Given the description of an element on the screen output the (x, y) to click on. 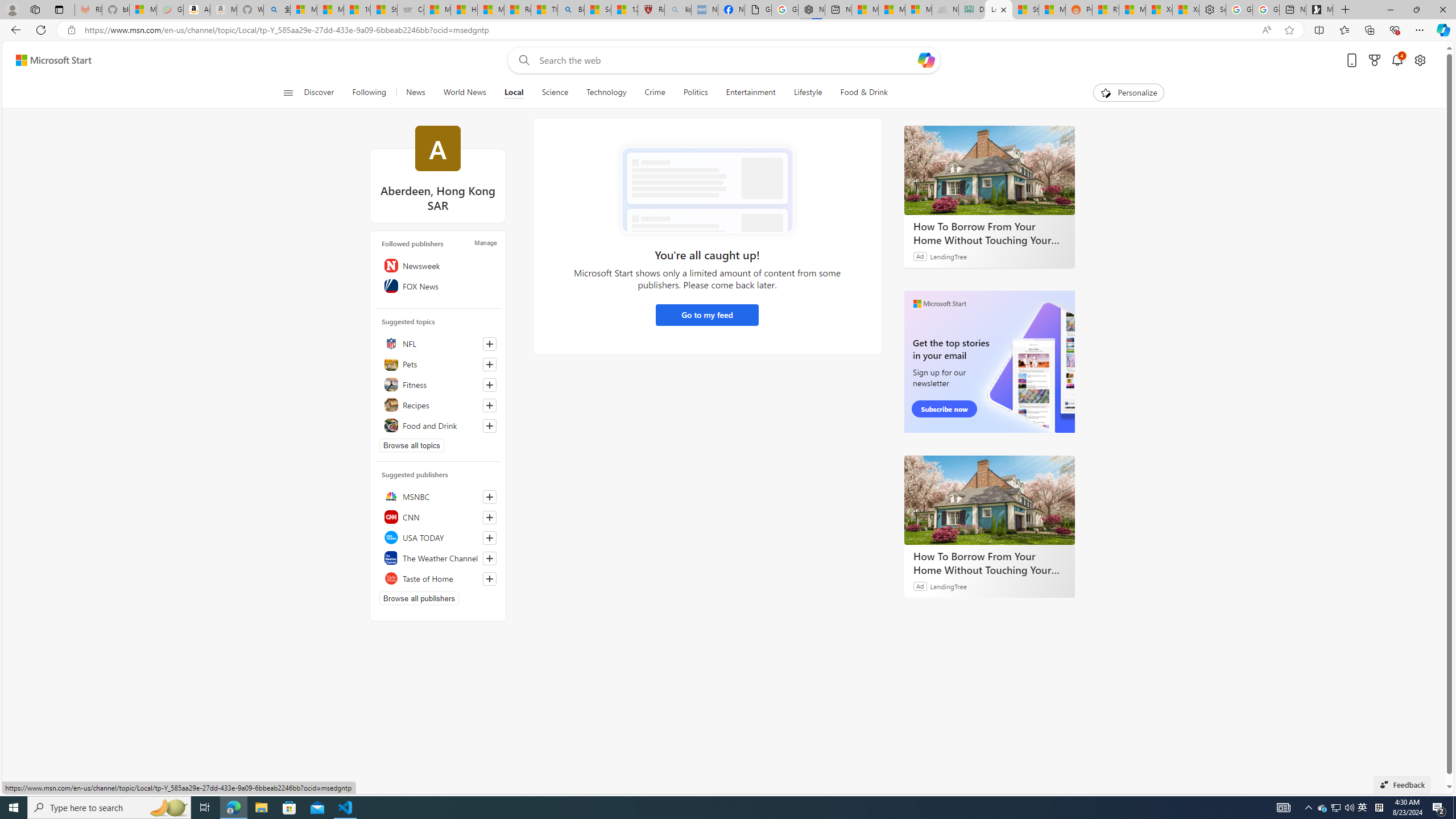
Google Analytics Opt-out Browser Add-on Download Page (757, 9)
